Given the description of an element on the screen output the (x, y) to click on. 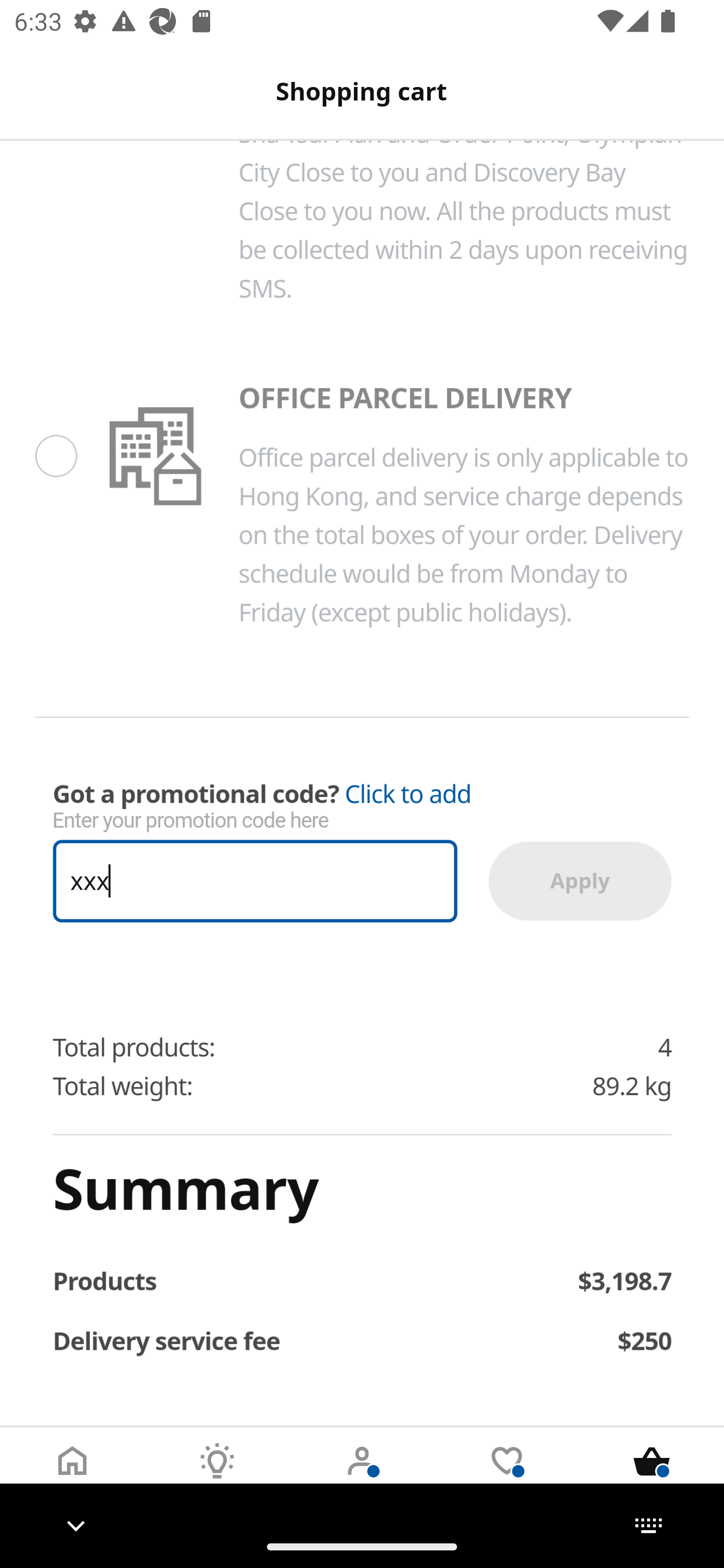
Click to add (408, 794)
Home
Tab 1 of 5 (72, 1476)
Inspirations
Tab 2 of 5 (216, 1476)
User
Tab 3 of 5 (361, 1476)
Wishlist
Tab 4 of 5 (506, 1476)
Cart
Tab 5 of 5 (651, 1476)
